Given the description of an element on the screen output the (x, y) to click on. 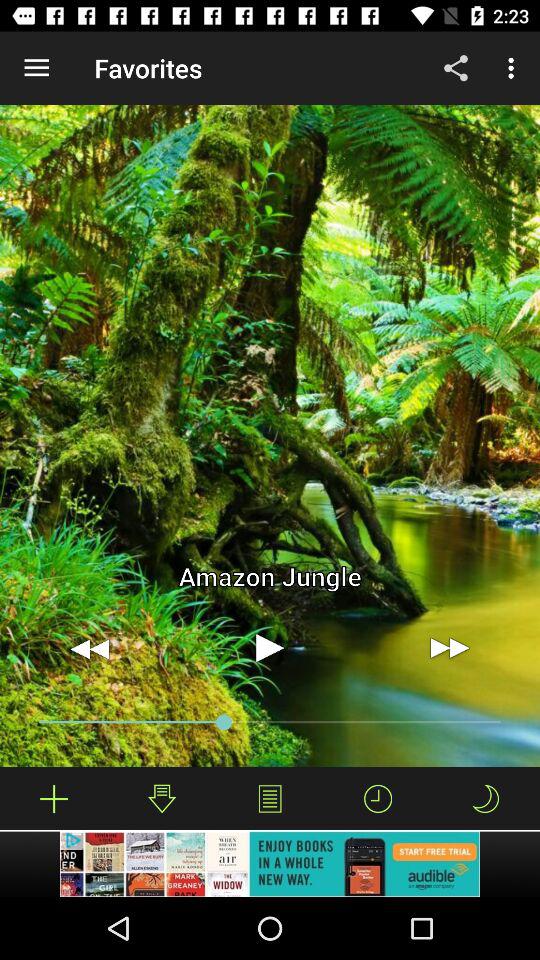
move forward (450, 648)
